Given the description of an element on the screen output the (x, y) to click on. 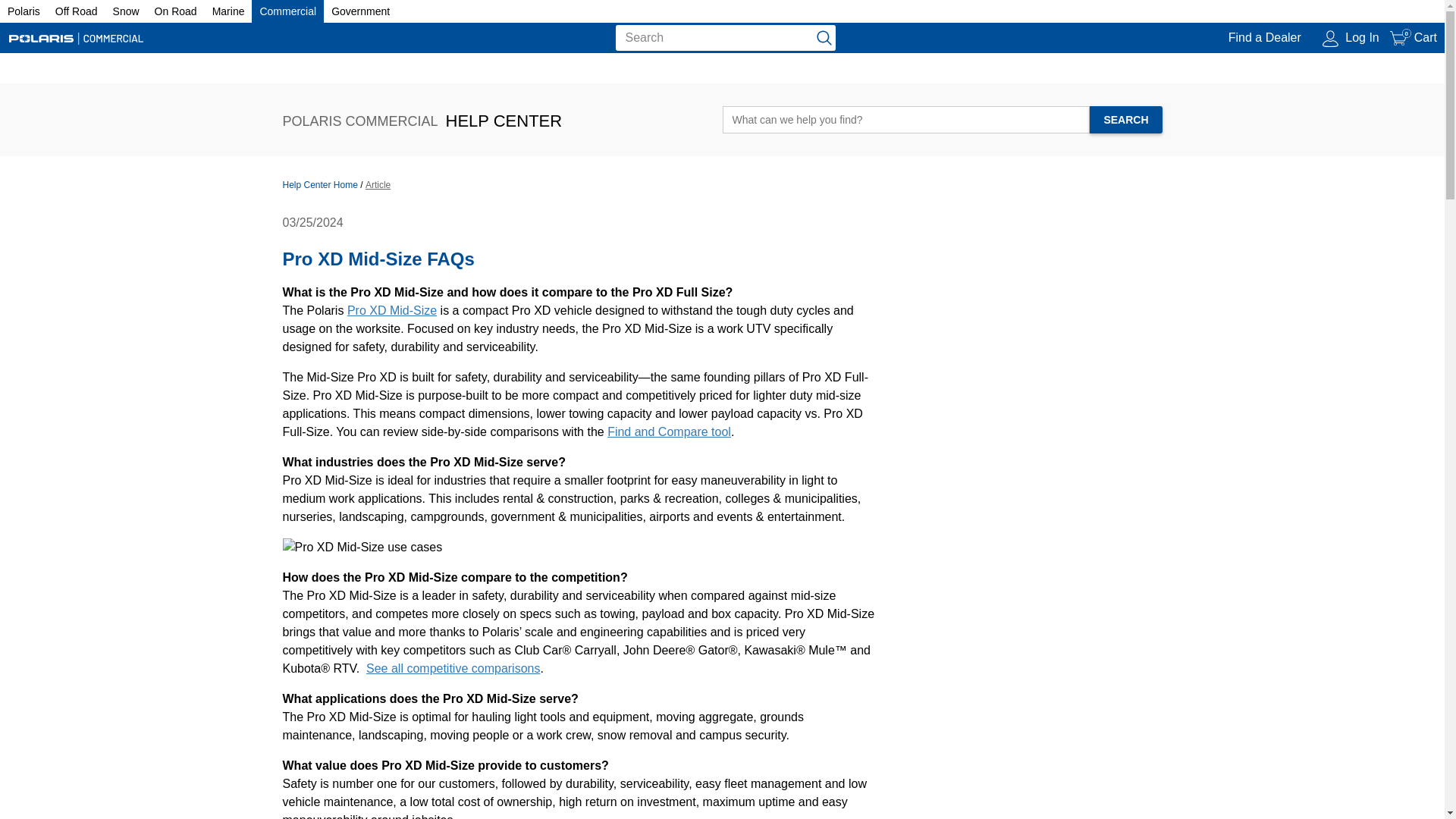
Snow (126, 10)
Commercial (287, 10)
0 (1413, 37)
Find a Dealer (1400, 37)
Polaris (1262, 37)
Government (23, 10)
Off Road (360, 10)
Marine (76, 10)
Log In (228, 10)
On Road (1350, 37)
